Given the description of an element on the screen output the (x, y) to click on. 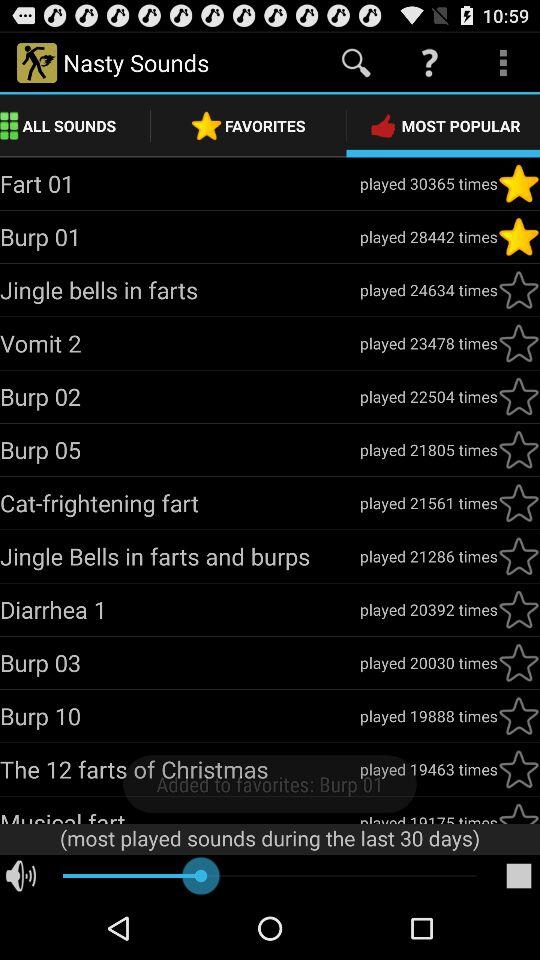
turn off the app to the right of nasty sounds icon (356, 62)
